Given the description of an element on the screen output the (x, y) to click on. 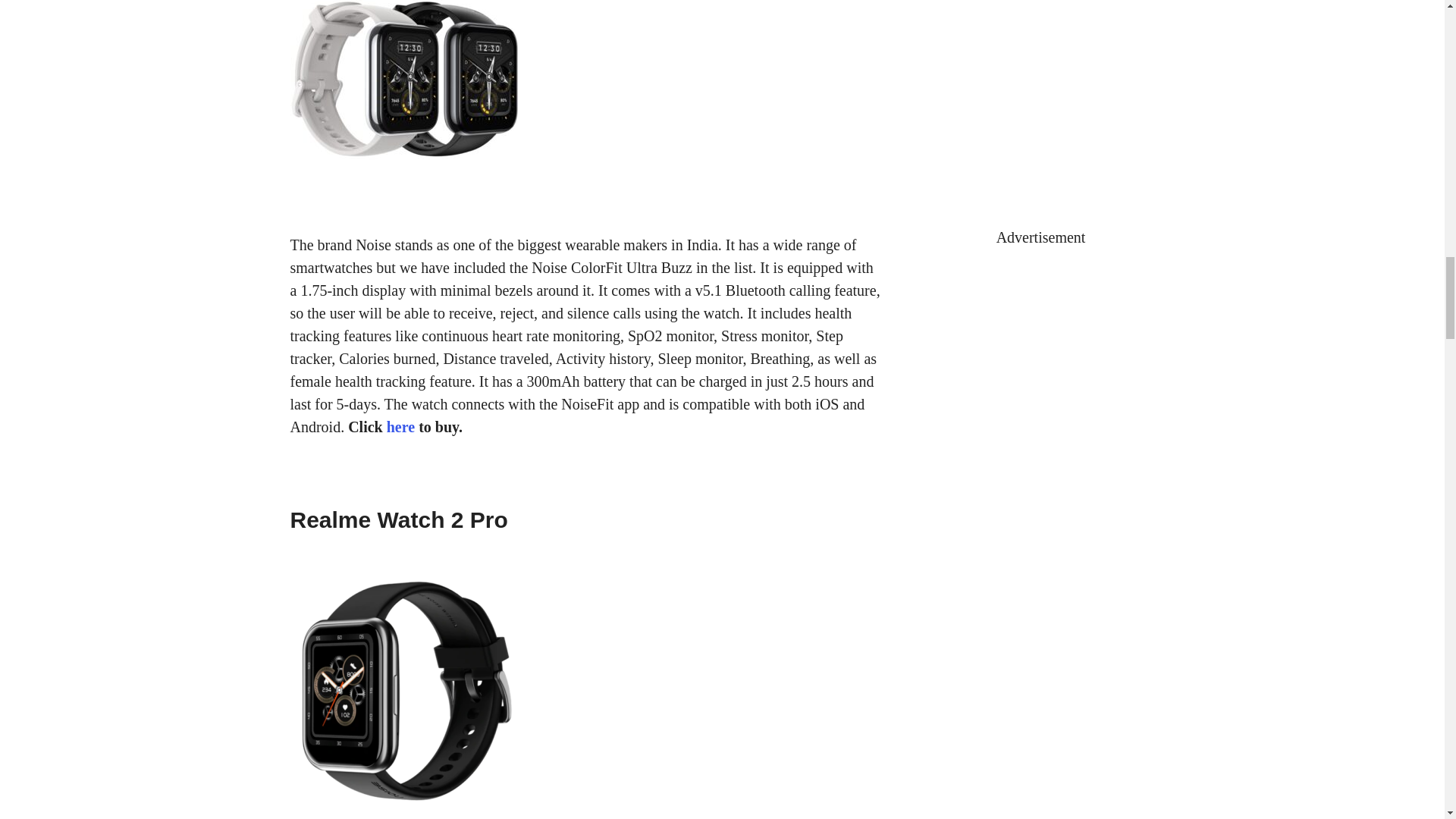
here (400, 426)
Realme watch (402, 79)
Noise (402, 692)
